Given the description of an element on the screen output the (x, y) to click on. 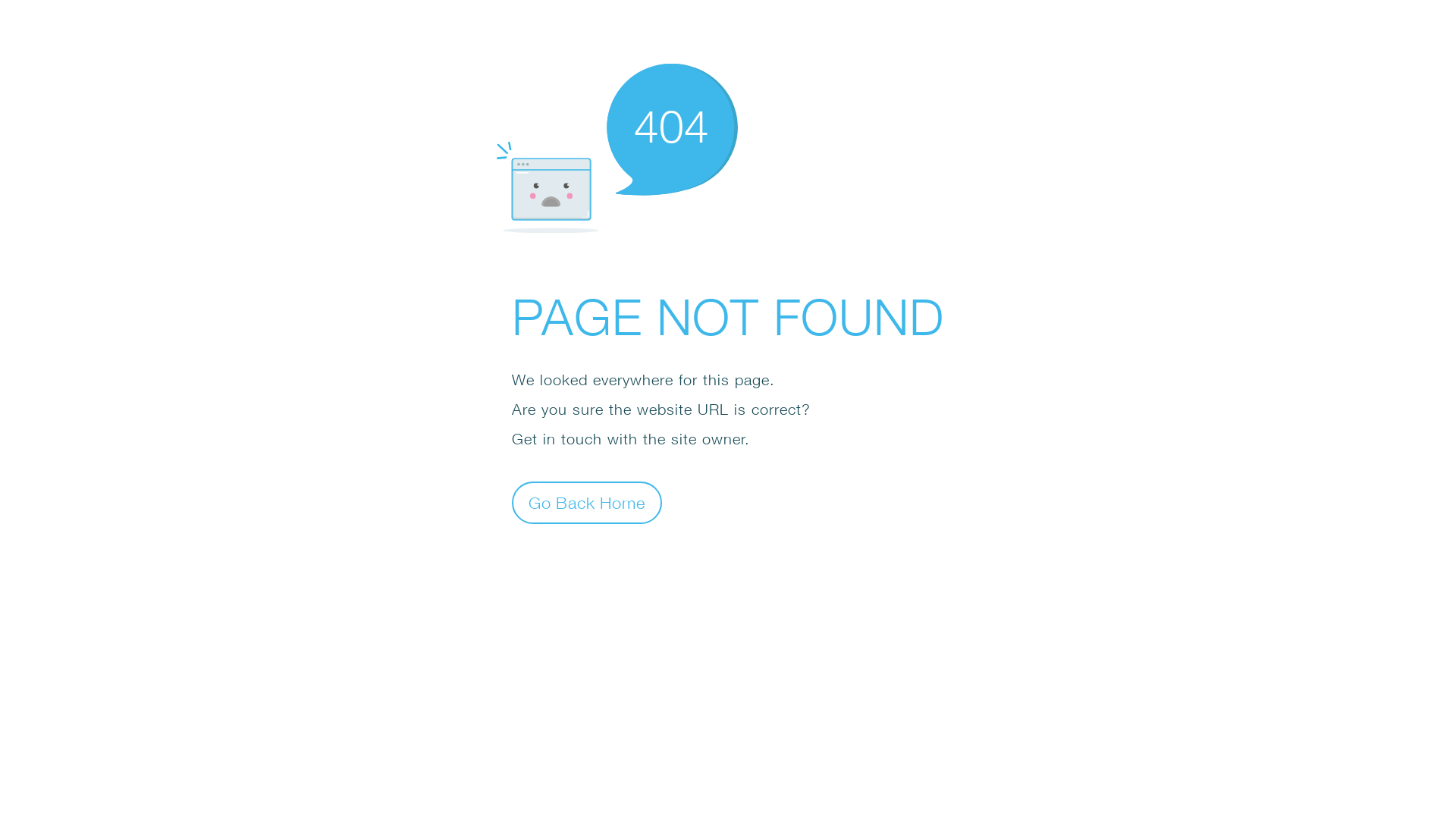
Go Back Home Element type: text (586, 502)
